Given the description of an element on the screen output the (x, y) to click on. 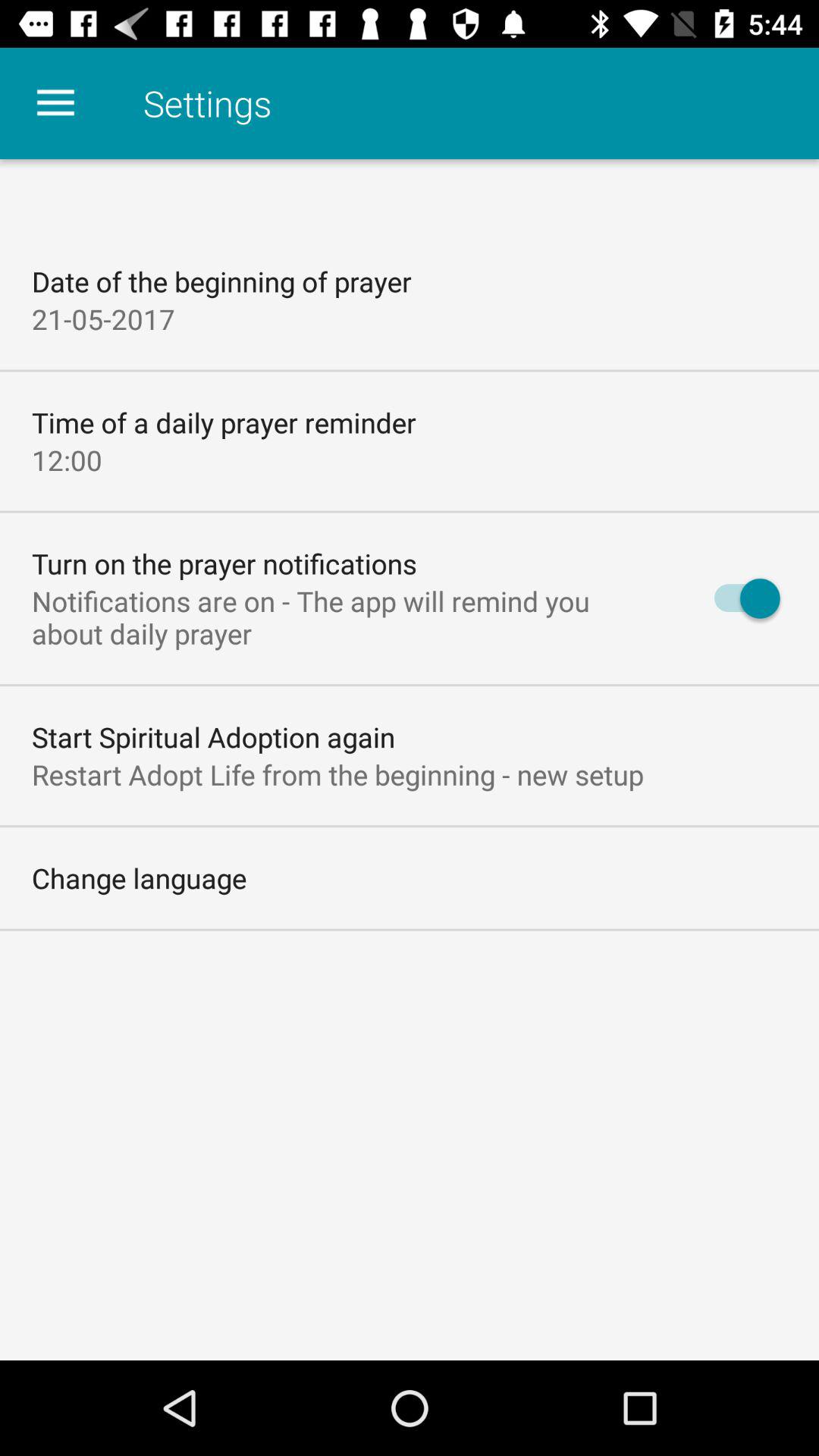
jump until the start spiritual adoption item (213, 736)
